Given the description of an element on the screen output the (x, y) to click on. 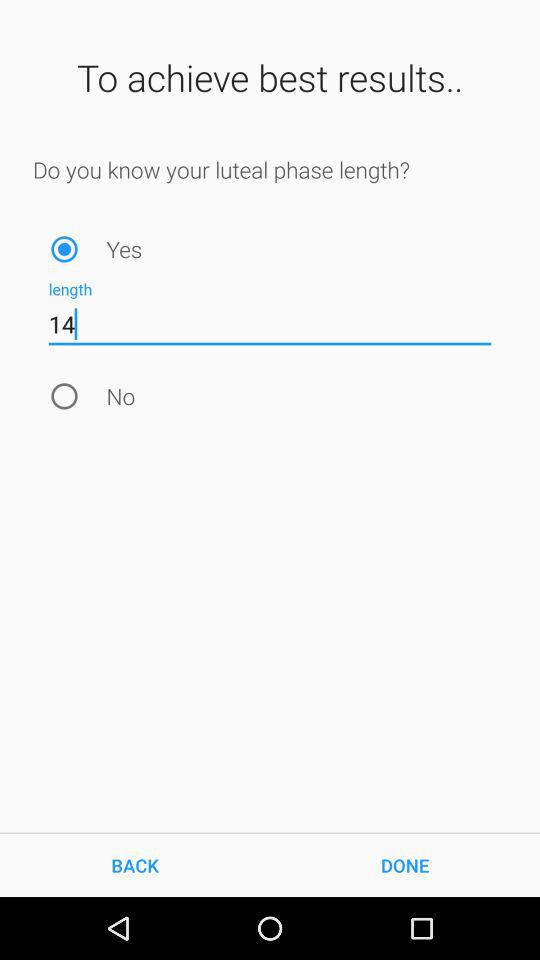
select yes (64, 248)
